Given the description of an element on the screen output the (x, y) to click on. 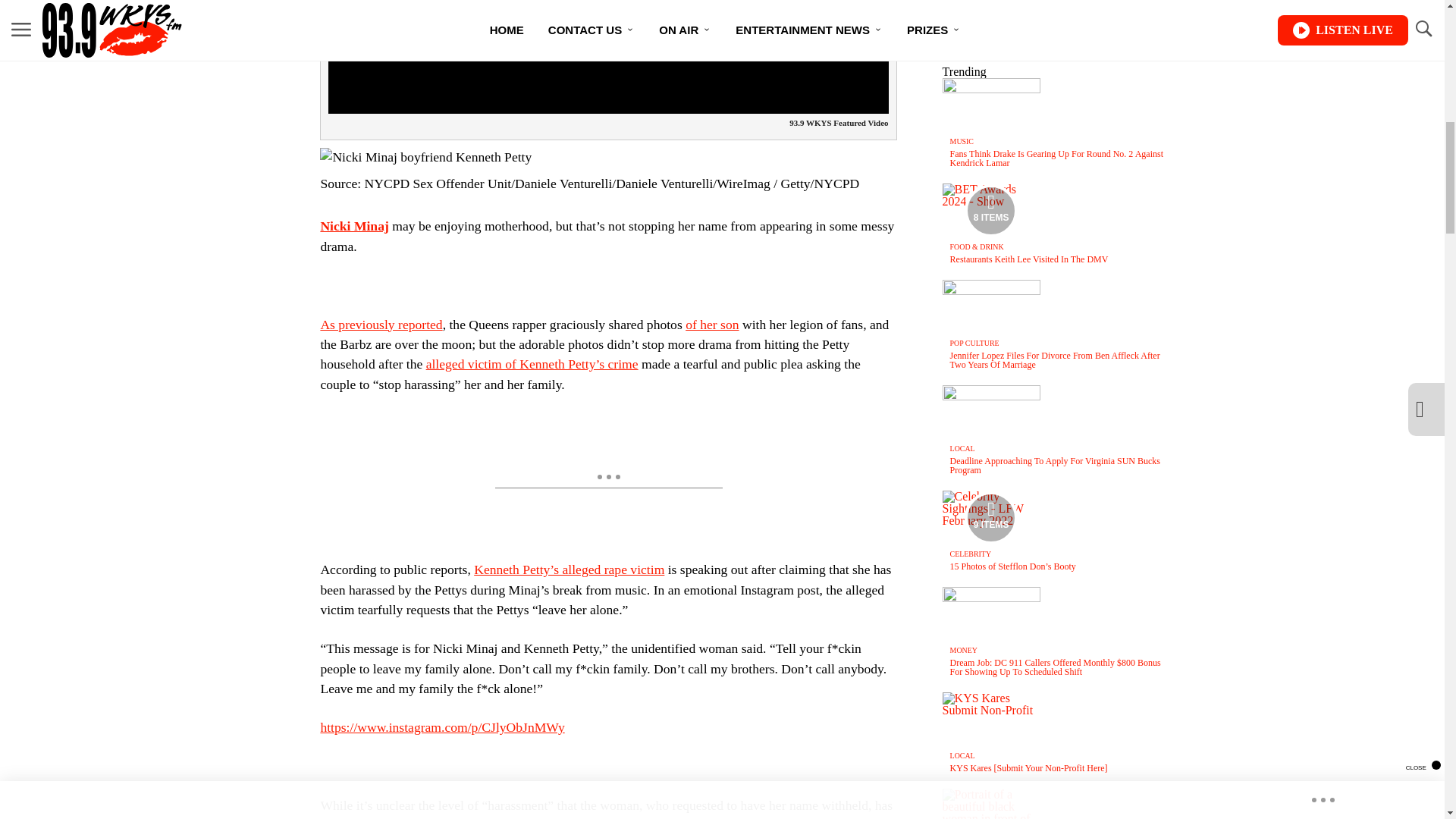
Media Playlist (990, 517)
Media Playlist (990, 210)
Nicki Minaj (354, 225)
of her son (711, 324)
As previously reported (381, 324)
